Given the description of an element on the screen output the (x, y) to click on. 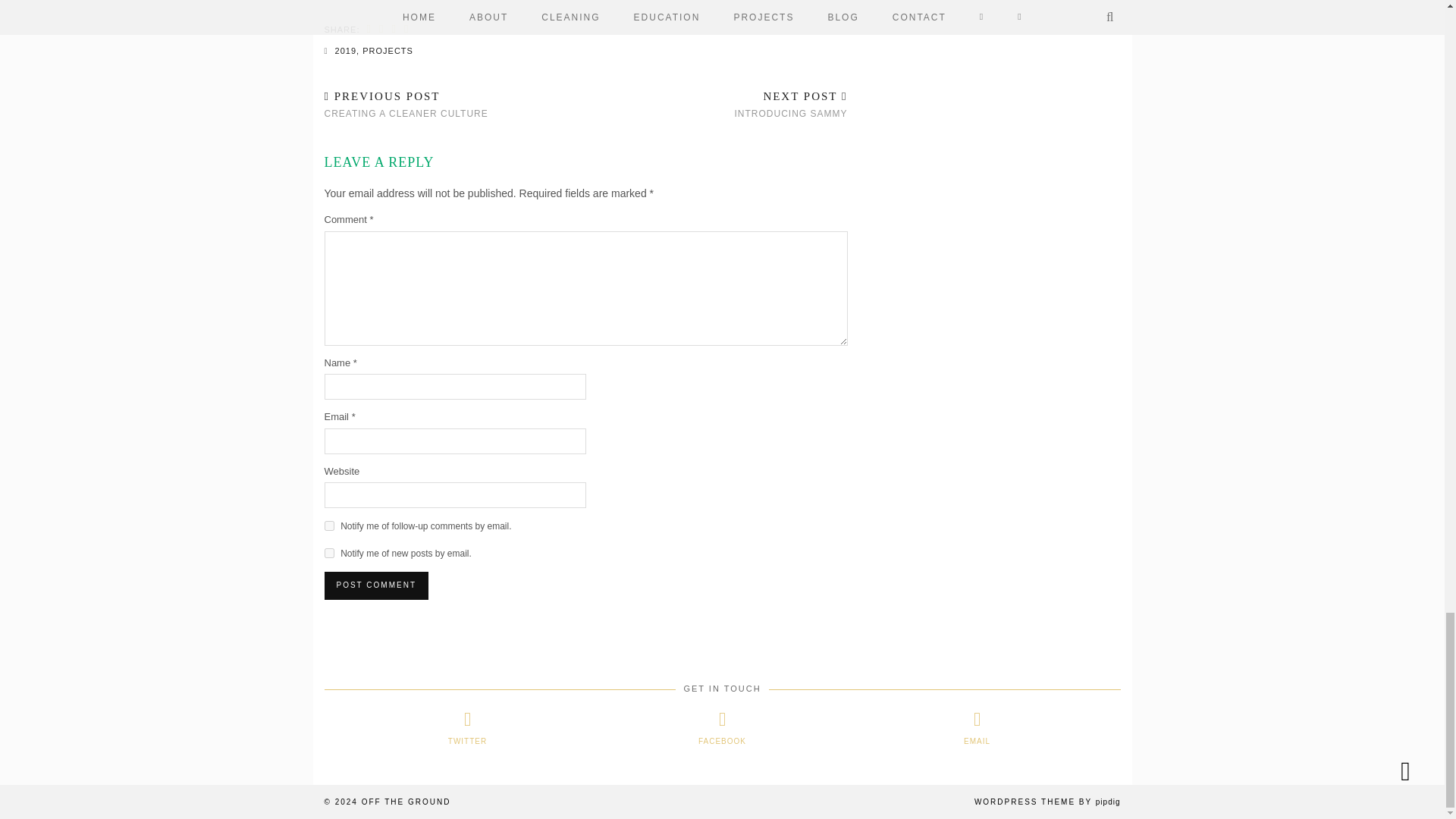
subscribe (329, 525)
Post Comment (376, 584)
PROJECTS (387, 50)
subscribe (329, 552)
2019 (345, 50)
